Given the description of an element on the screen output the (x, y) to click on. 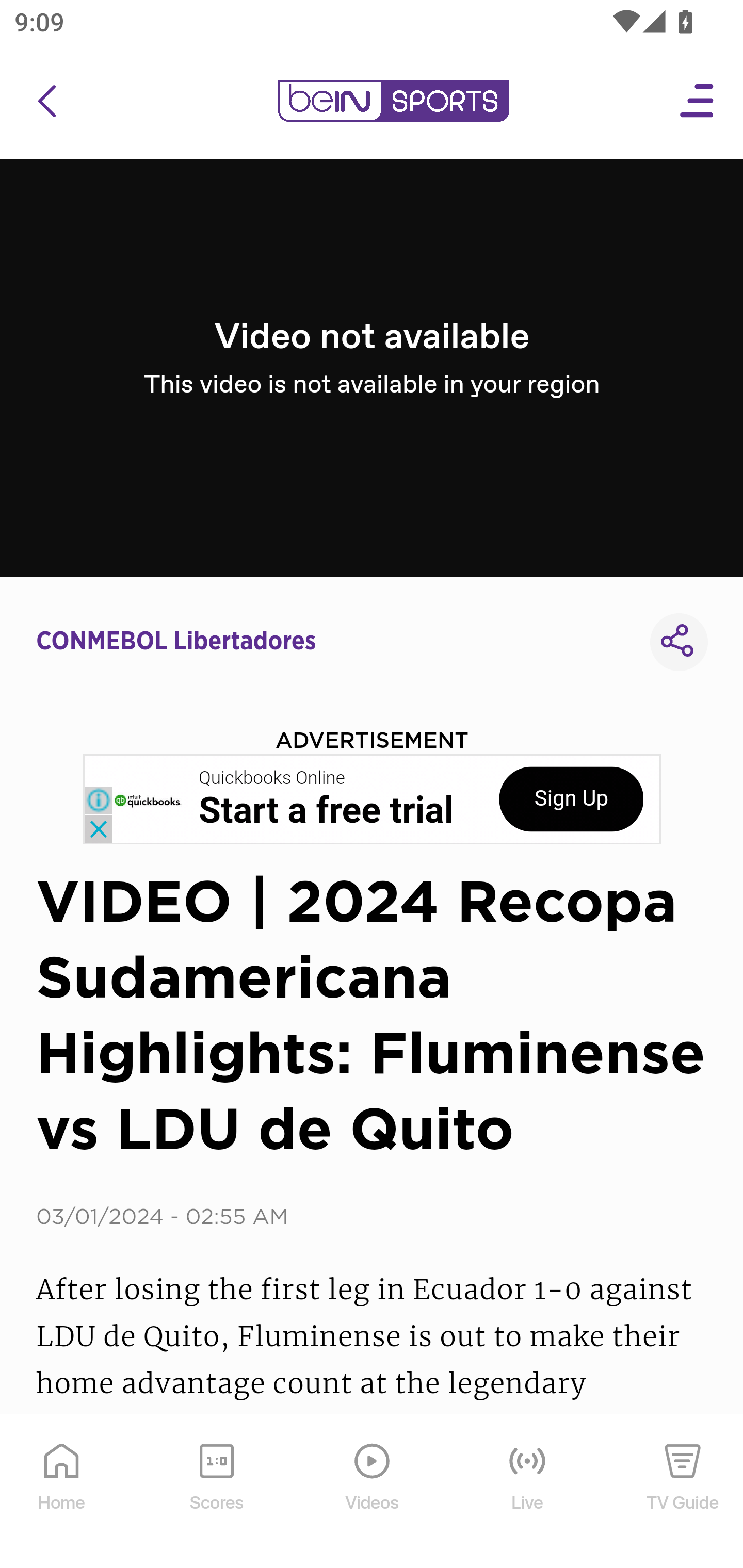
en-us?platform=mobile_android bein logo (392, 101)
icon back (46, 101)
Open Menu Icon (697, 101)
Quickbooks Online (272, 778)
Sign Up (571, 799)
Start a free trial (326, 810)
Home Home Icon Home (61, 1491)
Scores Scores Icon Scores (216, 1491)
Videos Videos Icon Videos (372, 1491)
TV Guide TV Guide Icon TV Guide (682, 1491)
